Given the description of an element on the screen output the (x, y) to click on. 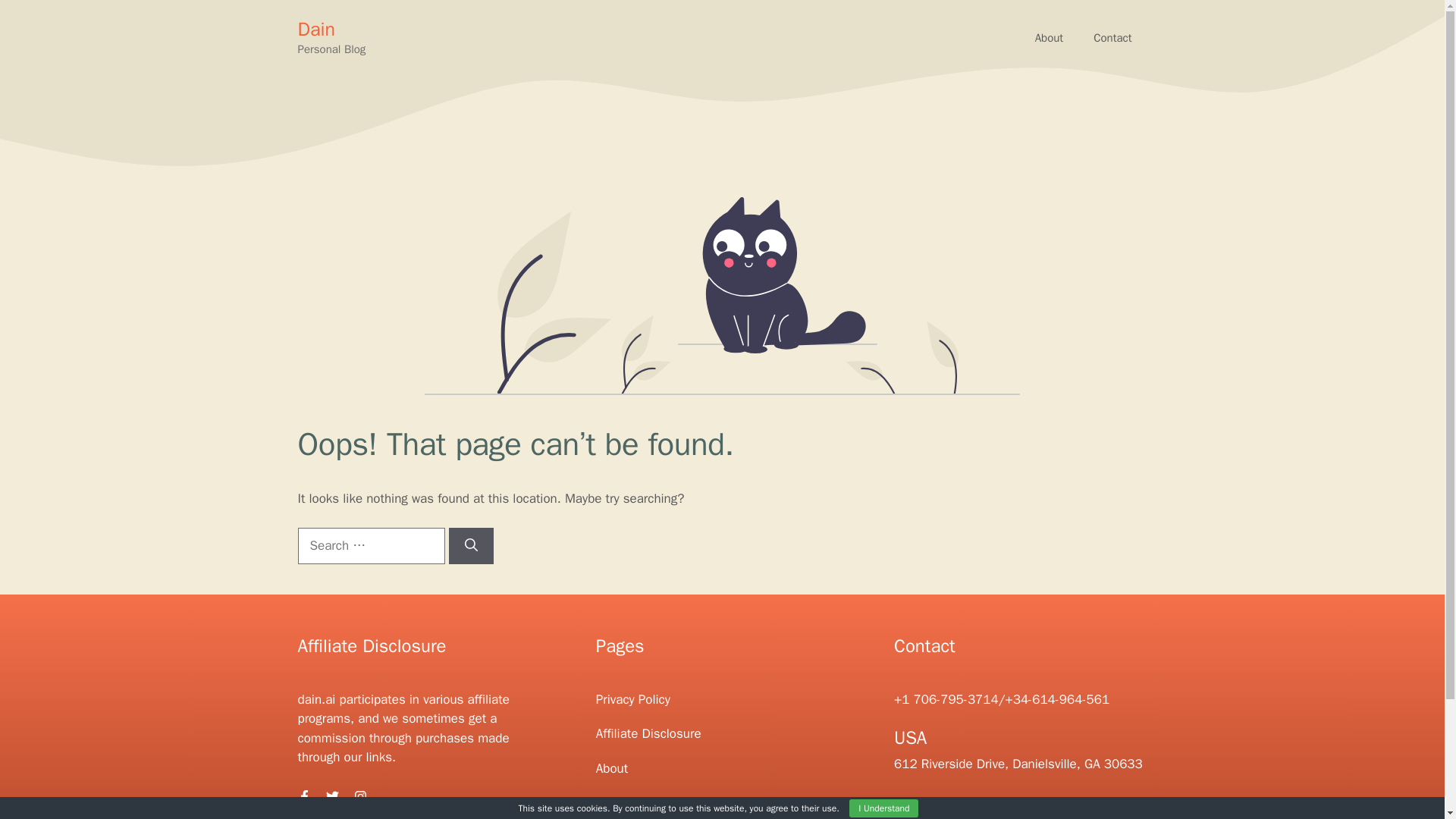
I Understand (883, 808)
Search for: (370, 545)
About (1049, 37)
Contact (617, 802)
Privacy Policy (632, 699)
Contact (1112, 37)
Dain (315, 28)
Affiliate Disclosure (648, 733)
About (1049, 37)
Contact (1112, 37)
About (611, 768)
